Given the description of an element on the screen output the (x, y) to click on. 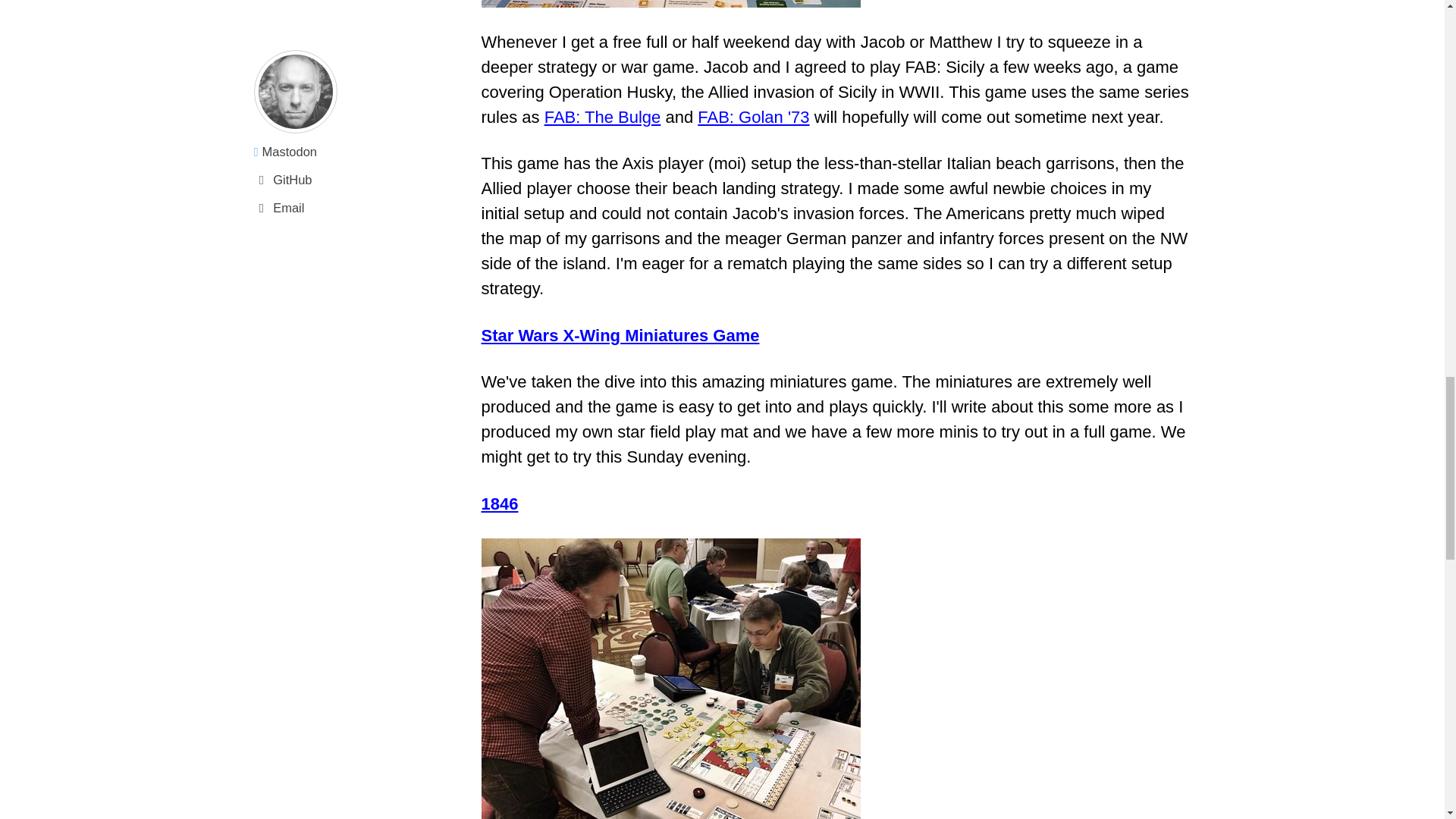
FAB: The Bulge (602, 116)
1846 (499, 503)
1846 by brookscl, on Flickr (670, 678)
FAB: Golan '73 (753, 116)
Star Wars X-Wing Miniatures Game (619, 334)
